Given the description of an element on the screen output the (x, y) to click on. 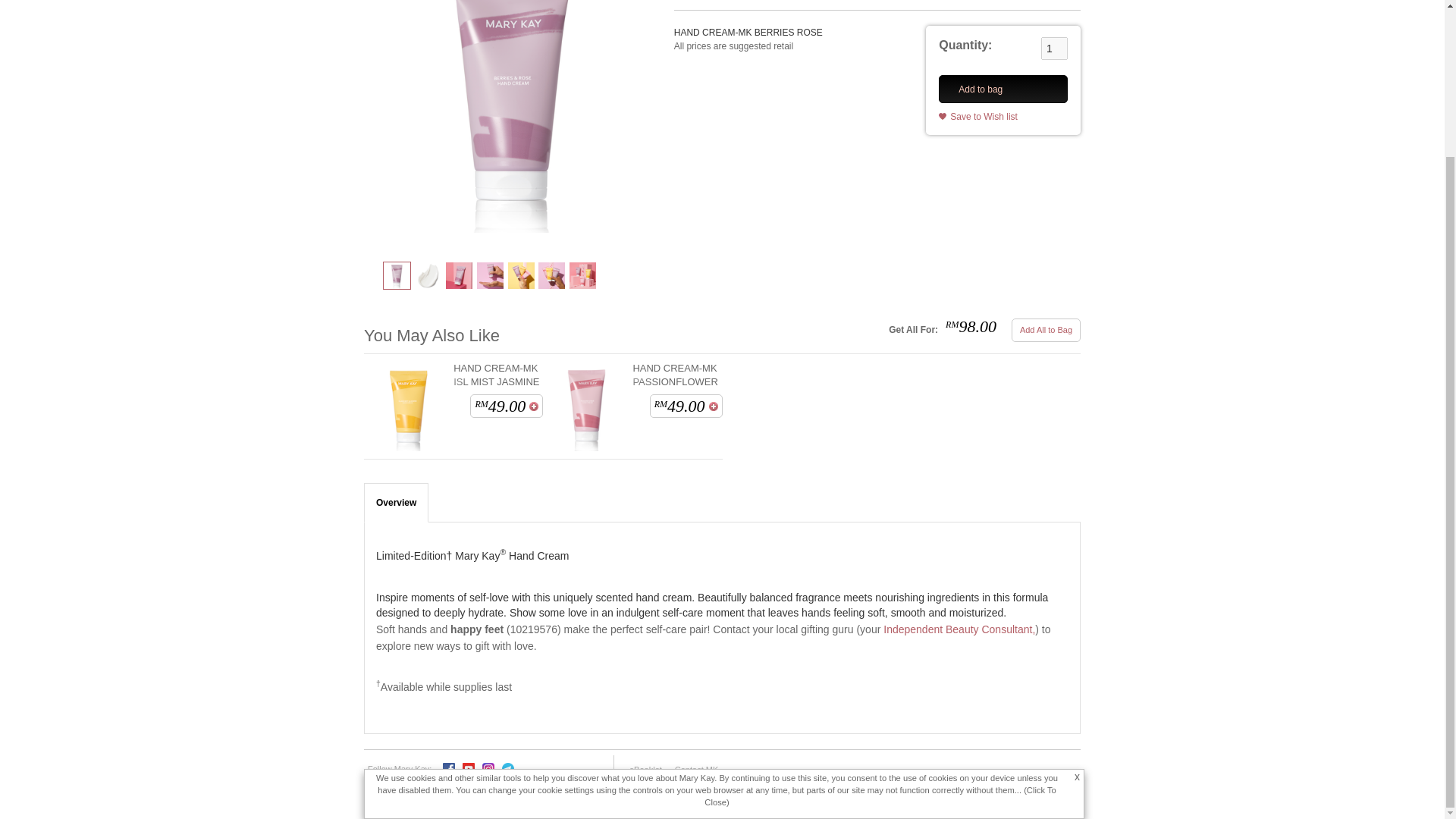
Contact Us (696, 770)
Add to bag (712, 406)
Follow on Instagram (488, 768)
Add to bag (533, 406)
Mary Kay Malaysia Instagram (488, 767)
Mary Kay Malaysia Youtube (468, 767)
See us on Youtube (468, 768)
Follow on Facebook (448, 768)
Mary Kay Malaysia Facebook (448, 767)
1 (1054, 47)
